Given the description of an element on the screen output the (x, y) to click on. 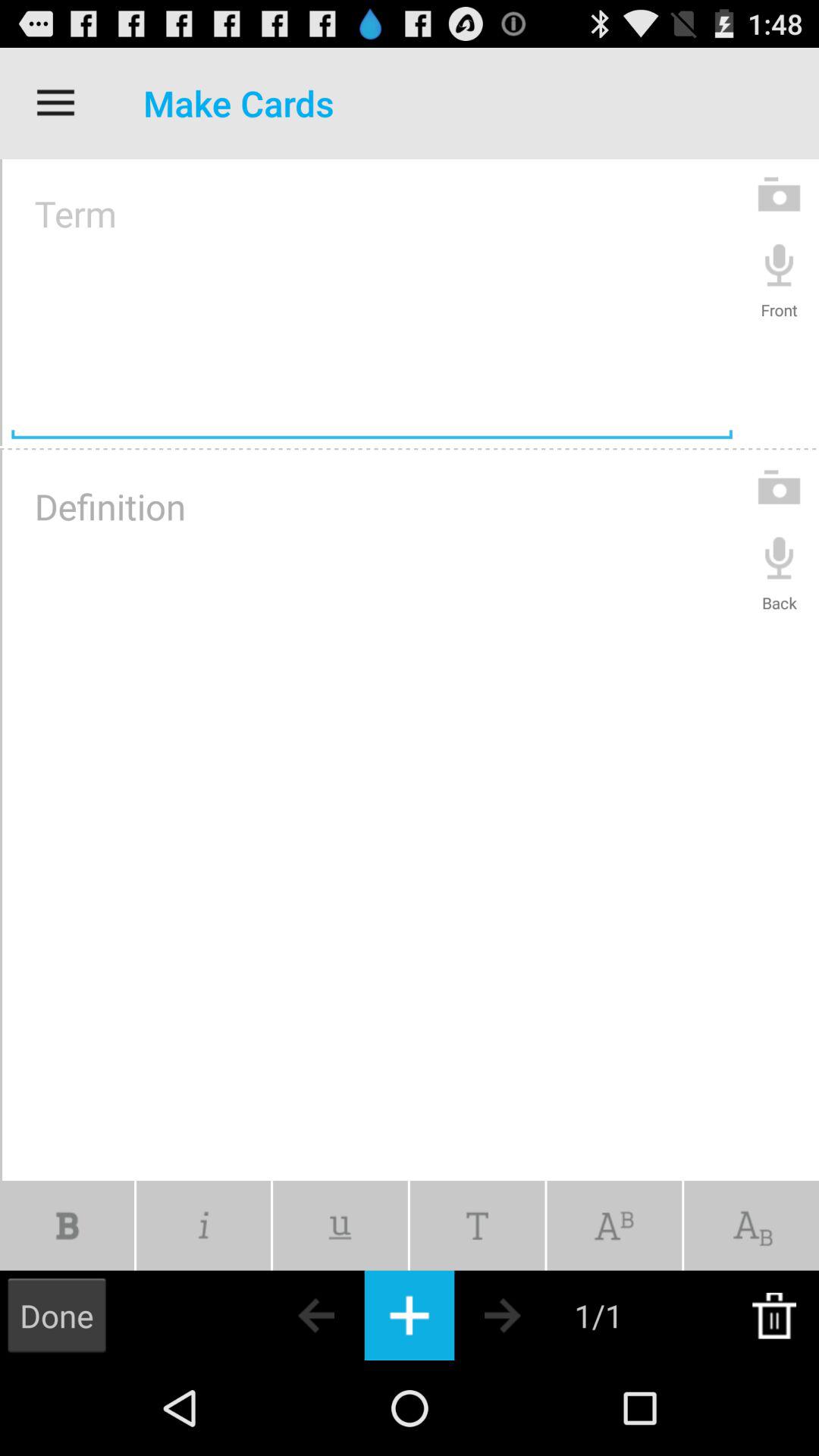
back (779, 557)
